Given the description of an element on the screen output the (x, y) to click on. 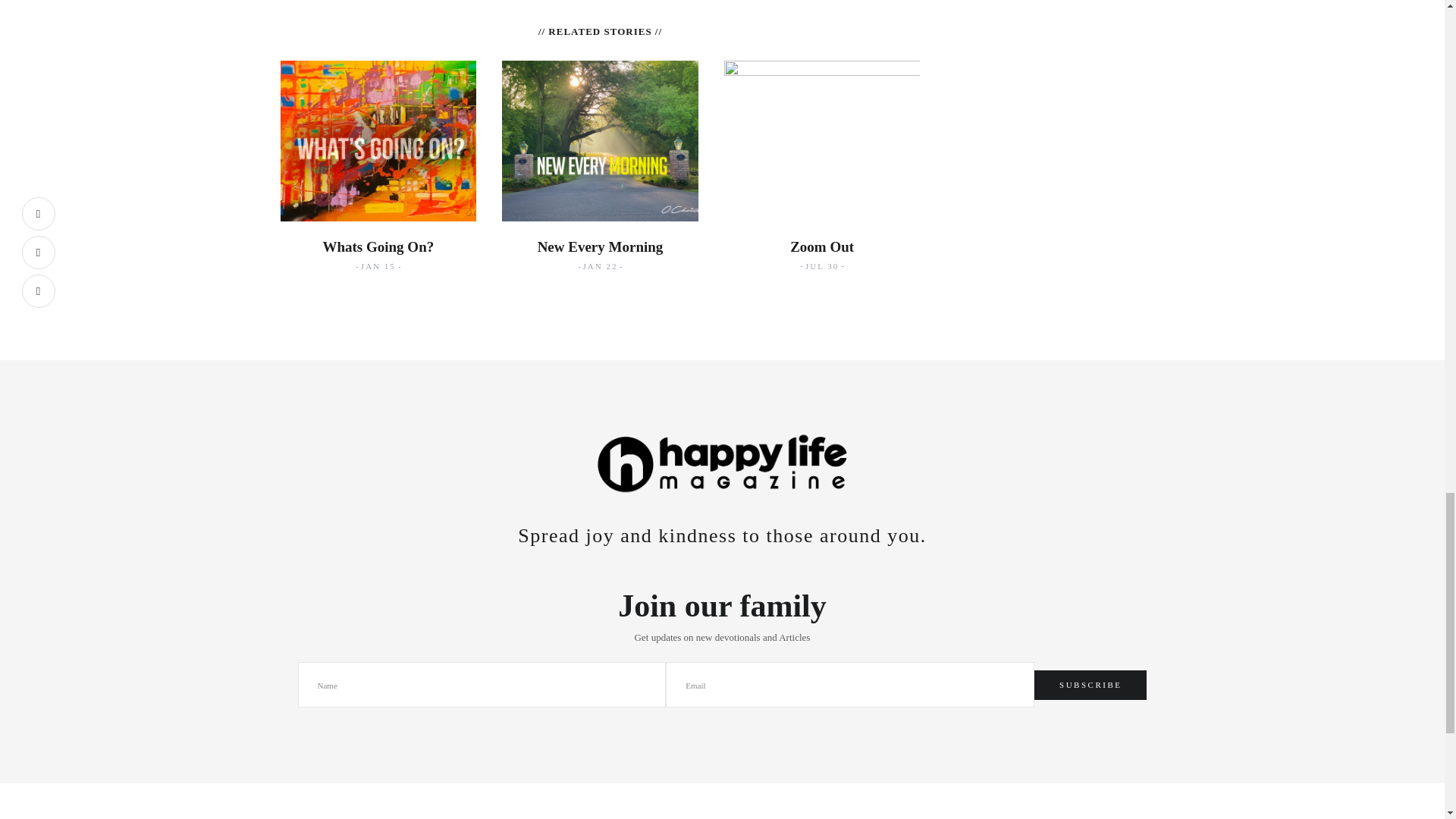
Whats Going On? (377, 246)
Whats Going On? (377, 246)
New Every Morning (600, 246)
Subscribe (1090, 685)
Zoom Out (821, 246)
New Every Morning (600, 246)
Zoom Out (821, 246)
